Given the description of an element on the screen output the (x, y) to click on. 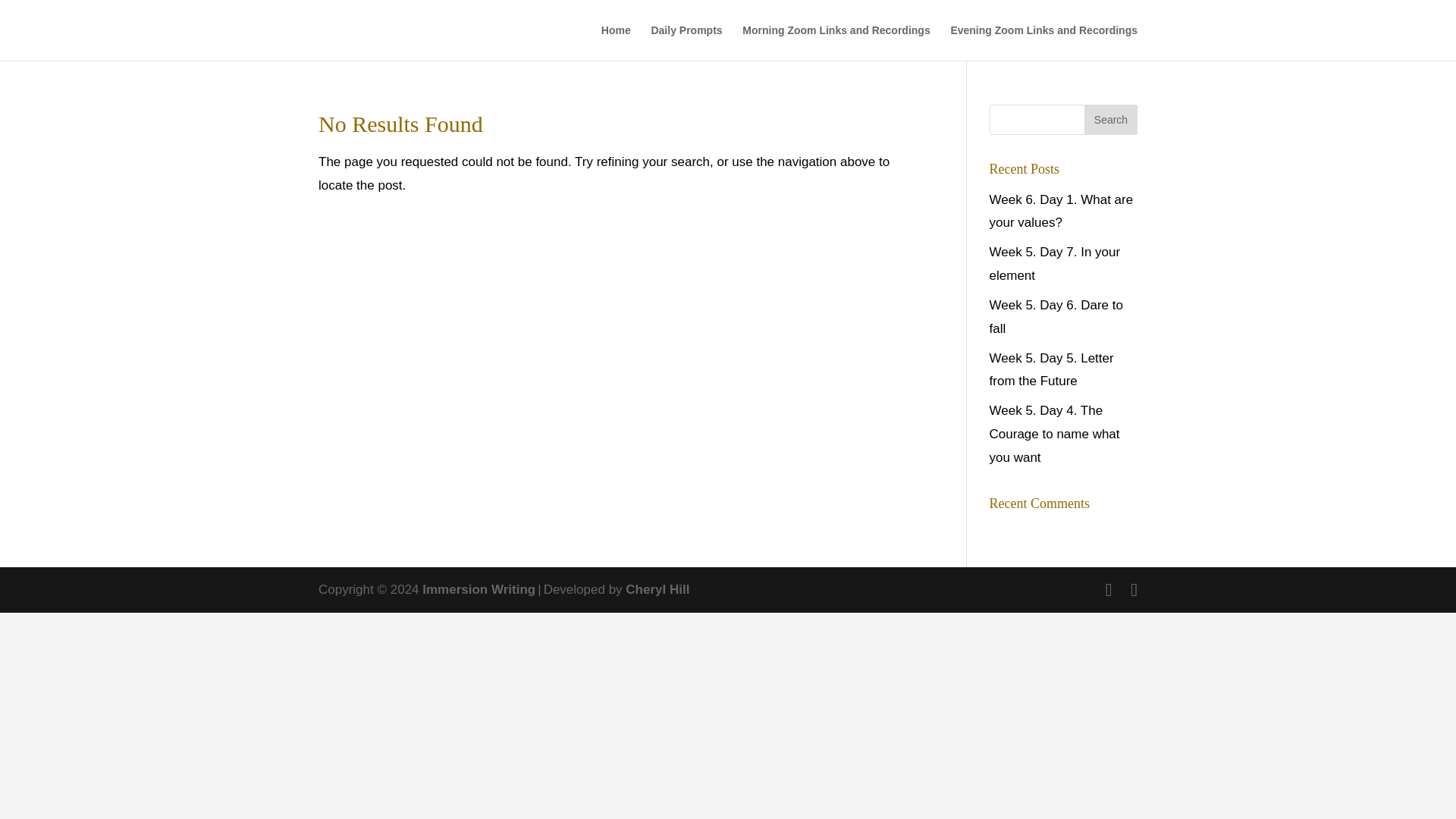
Week 5. Day 7. In your element (1055, 263)
Week 5. Day 4. The Courage to name what you want (1054, 433)
Daily Prompts (686, 42)
Morning Zoom Links and Recordings (836, 42)
Search (1110, 119)
Week 6. Day 1. What are your values? (1062, 211)
Week 5. Day 6. Dare to fall (1056, 316)
Evening Zoom Links and Recordings (1043, 42)
Immersion Writing (478, 589)
Week 5. Day 5. Letter from the Future (1051, 370)
